Given the description of an element on the screen output the (x, y) to click on. 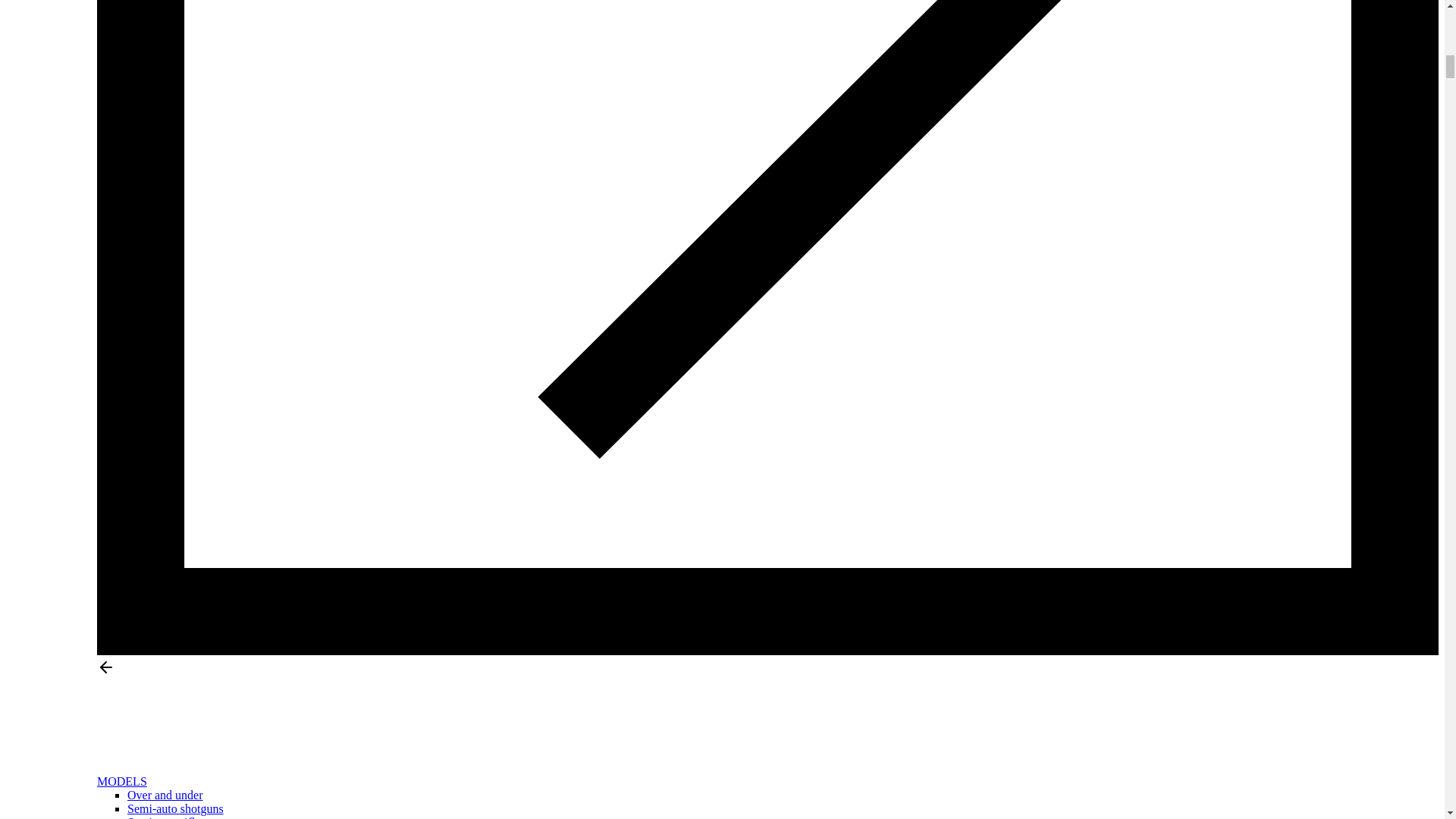
Semi-auto shotguns (176, 808)
Over and under (165, 794)
MODELS (122, 780)
Semi-auto rifles (166, 817)
